Given the description of an element on the screen output the (x, y) to click on. 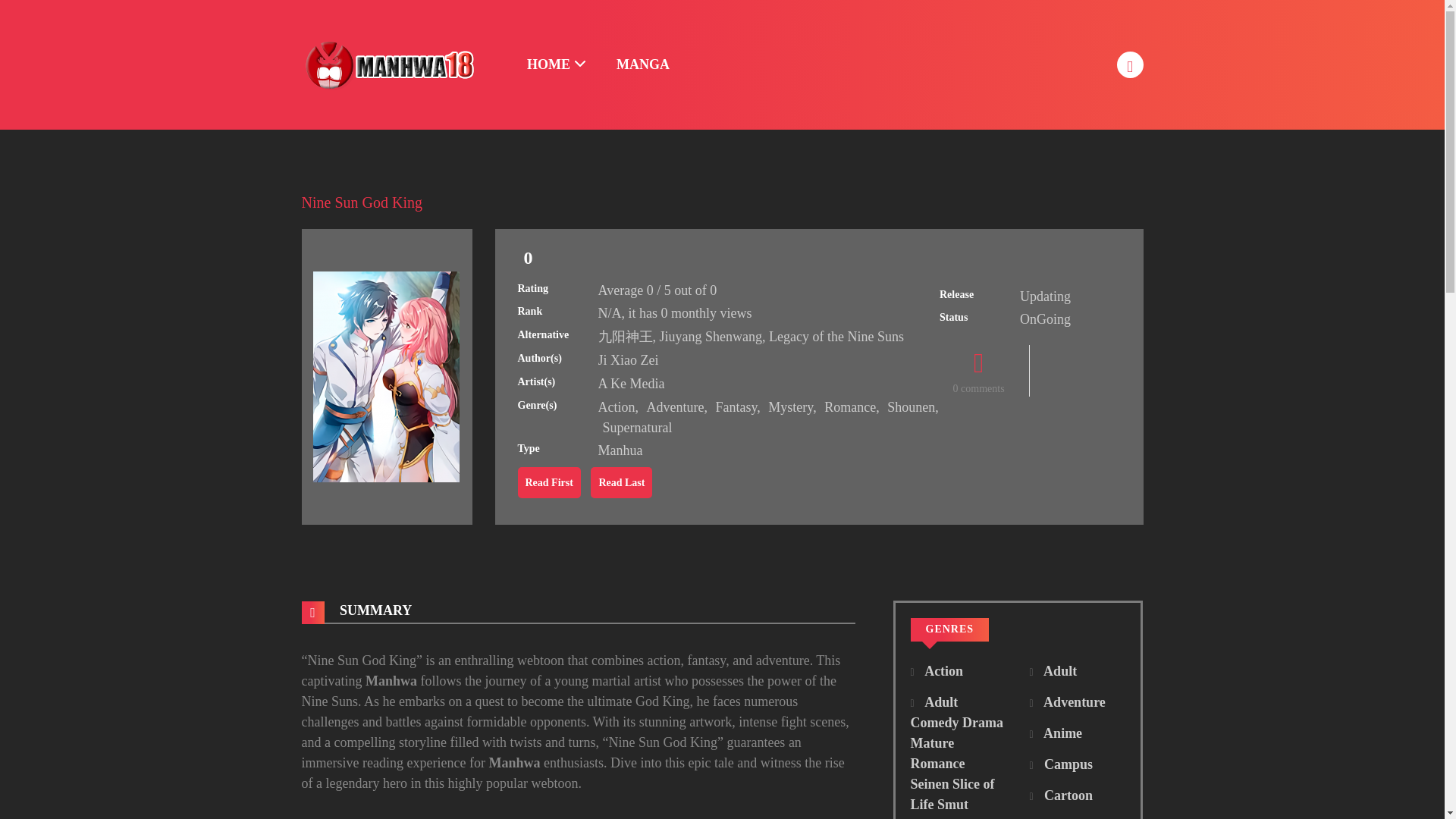
MANGA (642, 65)
Adventure (1067, 702)
Mystery (790, 406)
Romance (850, 406)
Ji Xiao Zei (627, 359)
Adult (1053, 670)
Supernatural (636, 427)
Shounen (910, 406)
HOME (556, 65)
Adventure (674, 406)
